Given the description of an element on the screen output the (x, y) to click on. 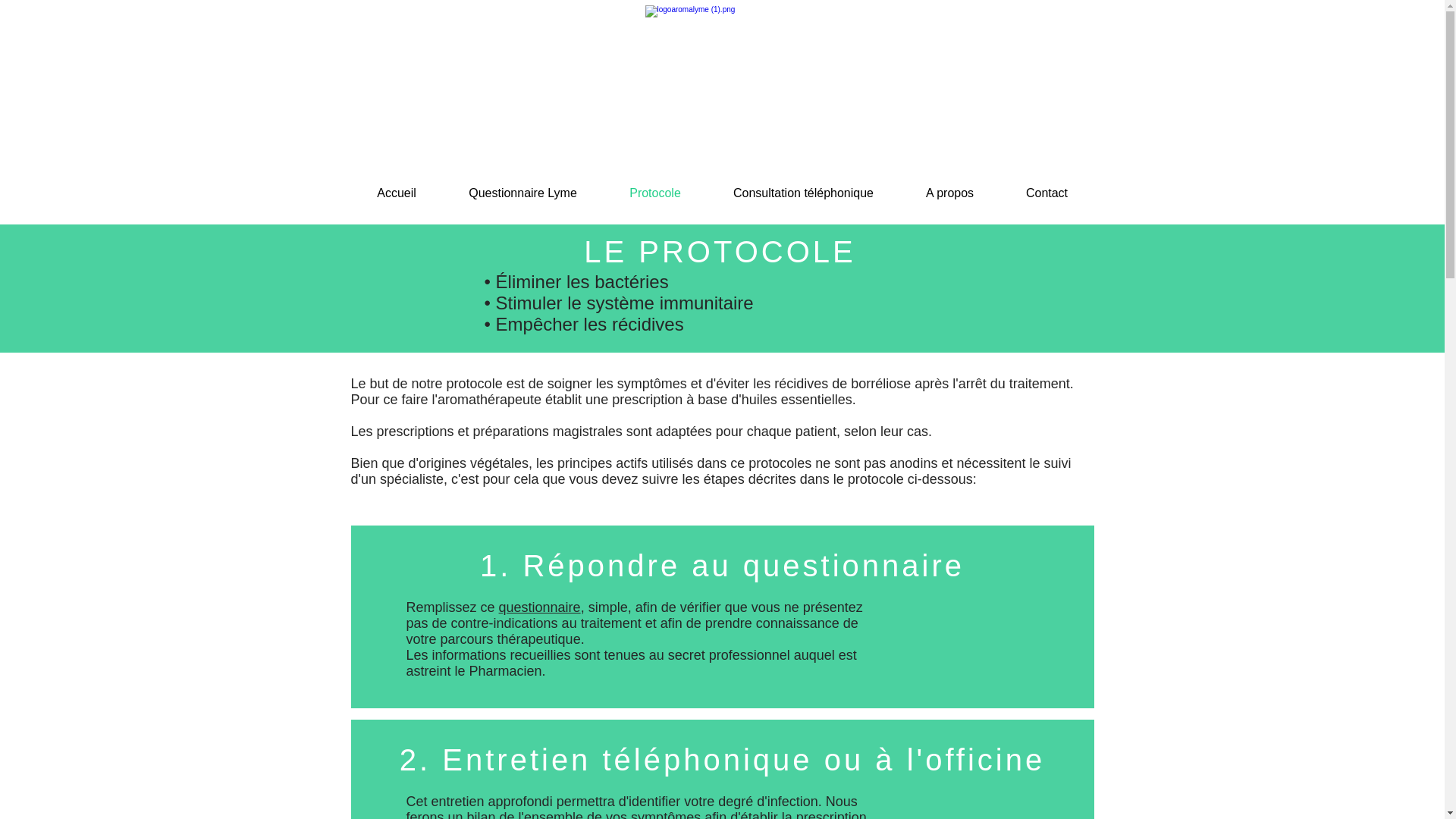
Accueil Element type: text (396, 192)
questionnaire Element type: text (539, 607)
Protocole Element type: text (655, 192)
A propos Element type: text (949, 192)
Questionnaire Lyme Element type: text (522, 192)
Contact Element type: text (1046, 192)
